Given the description of an element on the screen output the (x, y) to click on. 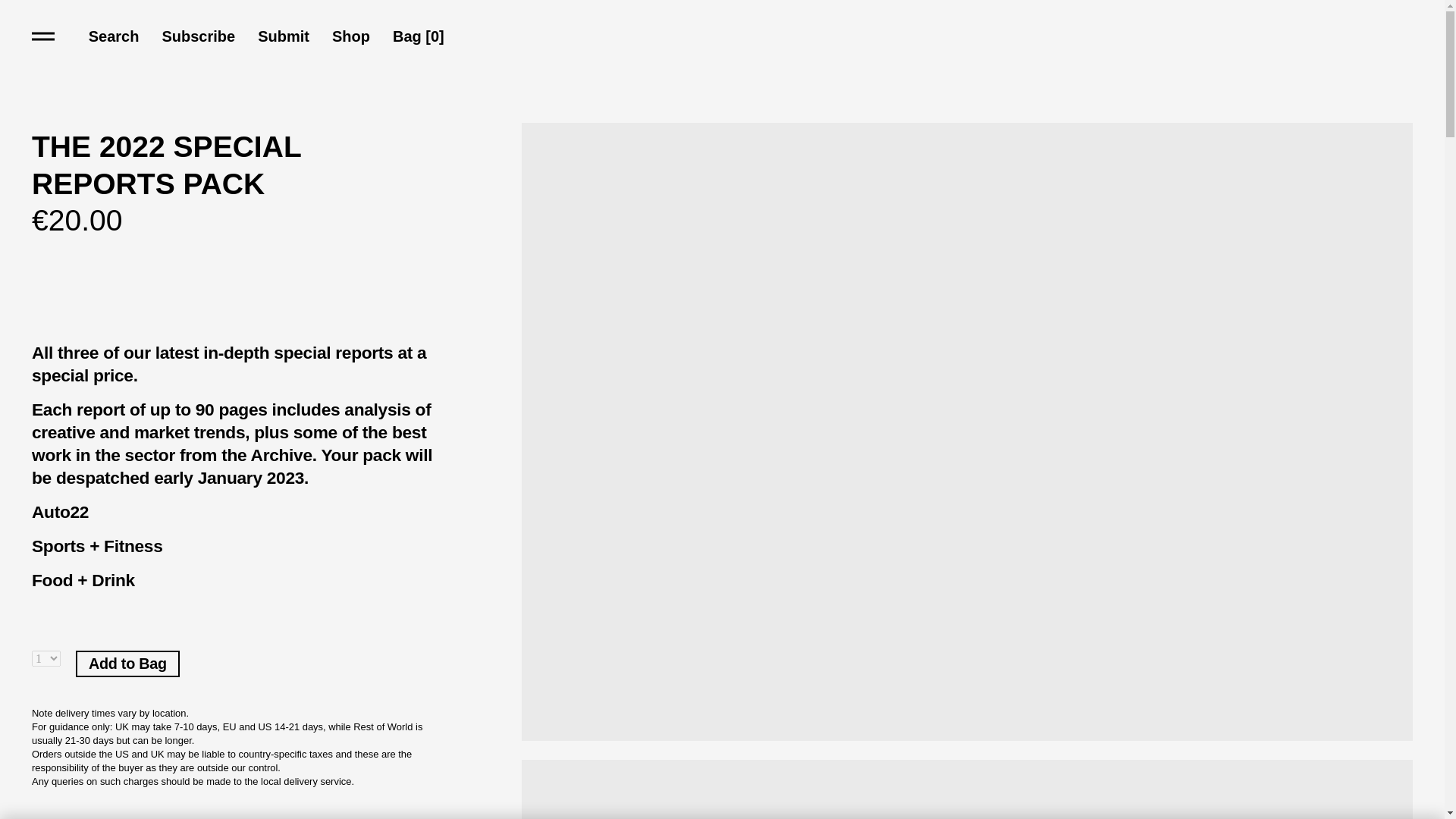
Search (113, 35)
Submit (282, 35)
Shop (350, 35)
Subscribe (197, 35)
